Given the description of an element on the screen output the (x, y) to click on. 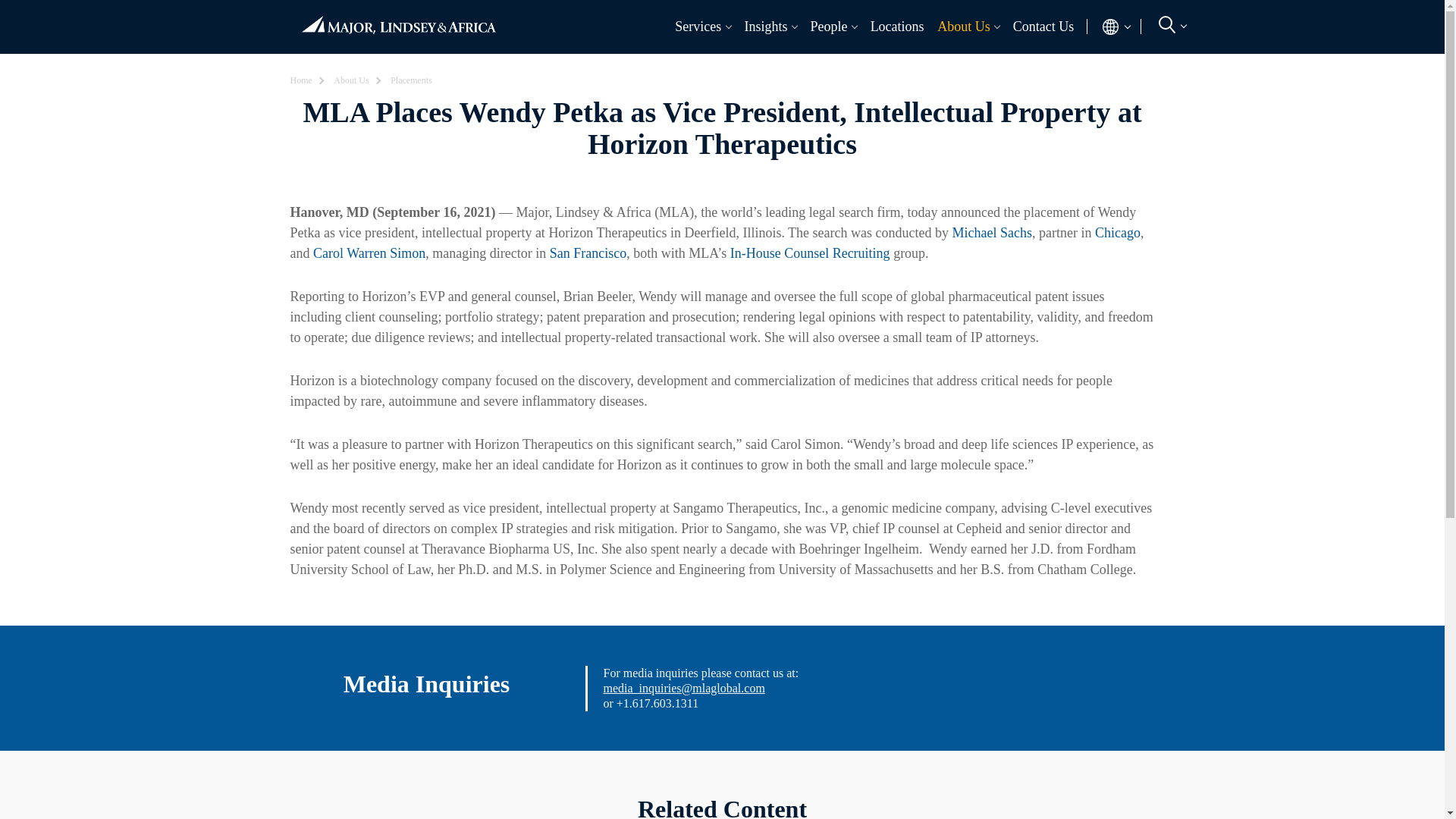
Home (397, 18)
Associate Recruiting (397, 60)
Services (695, 26)
Board Services (614, 60)
In-House Counsel Recruiting (1046, 60)
People (825, 26)
Locations (896, 26)
Contact Us (1043, 26)
About Us (960, 26)
Insights (761, 26)
